Given the description of an element on the screen output the (x, y) to click on. 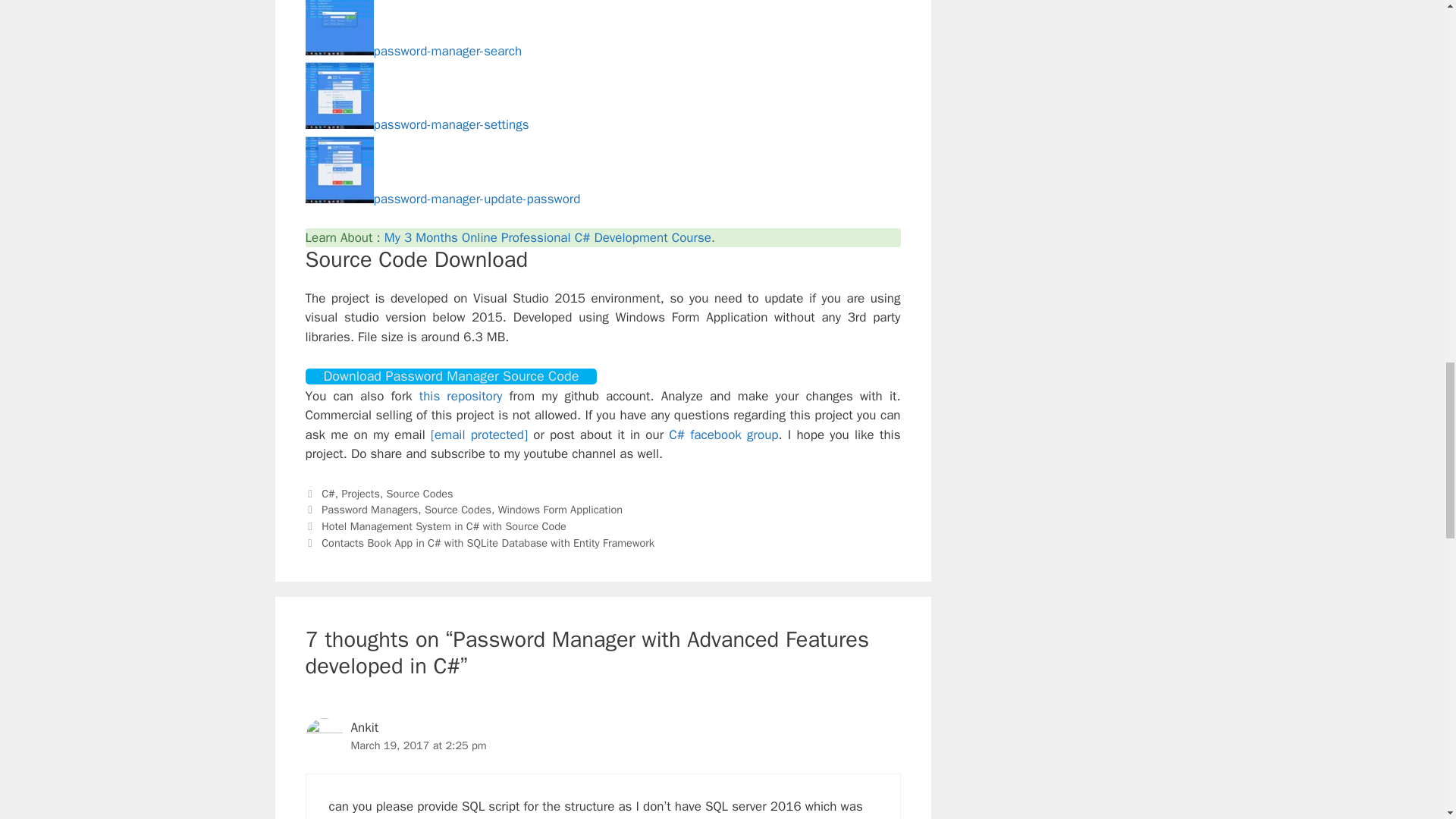
Projects (359, 493)
password-manager-settings (416, 124)
Password Managers (369, 509)
Windows Form Application (560, 509)
Download Password Manager Source Code (450, 376)
Source Codes (458, 509)
Previous (435, 526)
password-manager-update-password (441, 198)
password-manager-search (412, 50)
password-manager-search (412, 50)
password-manager-settings (416, 124)
this repository (460, 396)
password-manager-update-password (441, 198)
March 19, 2017 at 2:25 pm (418, 745)
Download Project (450, 376)
